Given the description of an element on the screen output the (x, y) to click on. 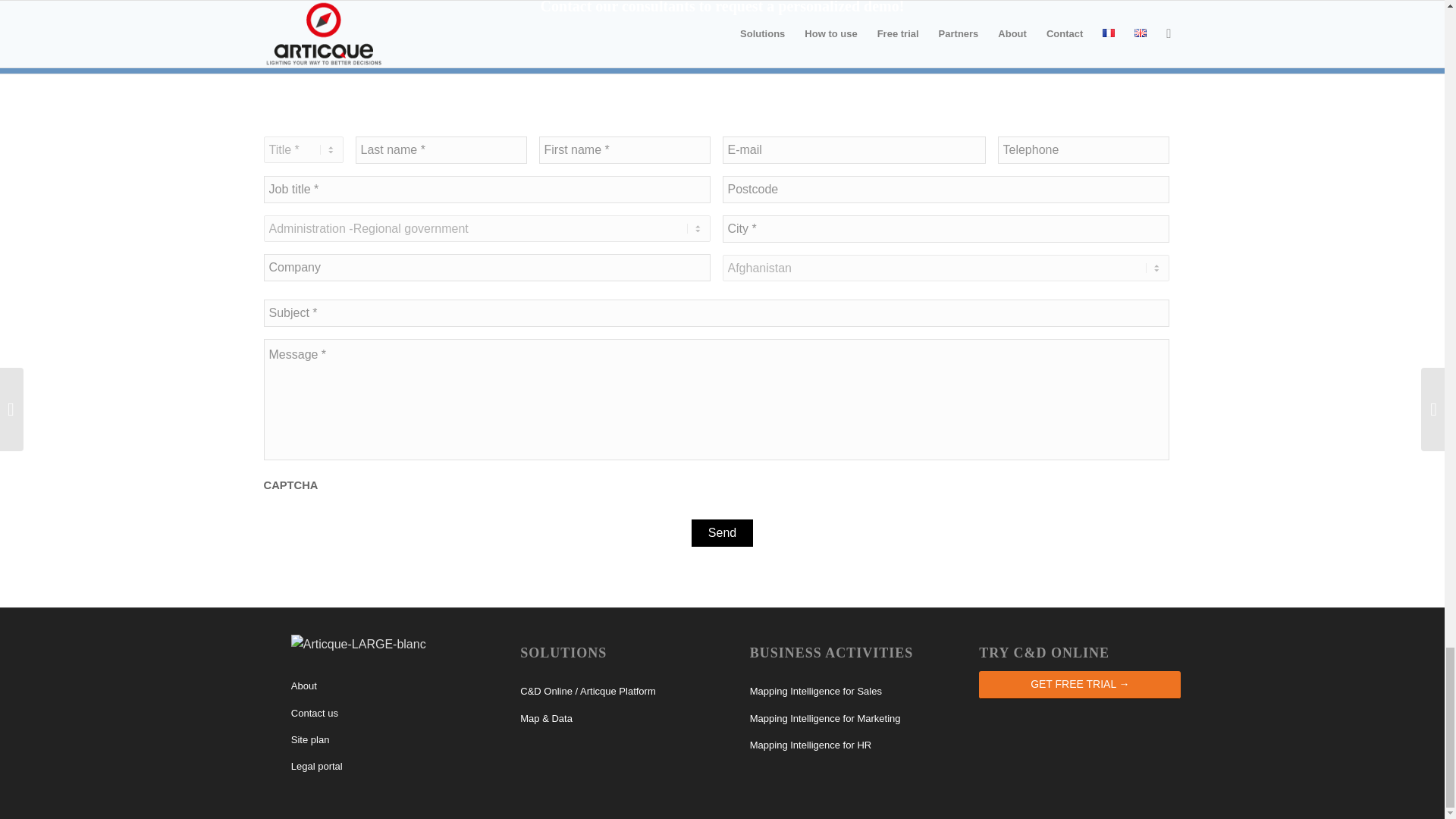
Site plan (392, 740)
Send (721, 533)
Contact us (392, 714)
About (392, 686)
Send (721, 533)
Legal portal (392, 766)
